Given the description of an element on the screen output the (x, y) to click on. 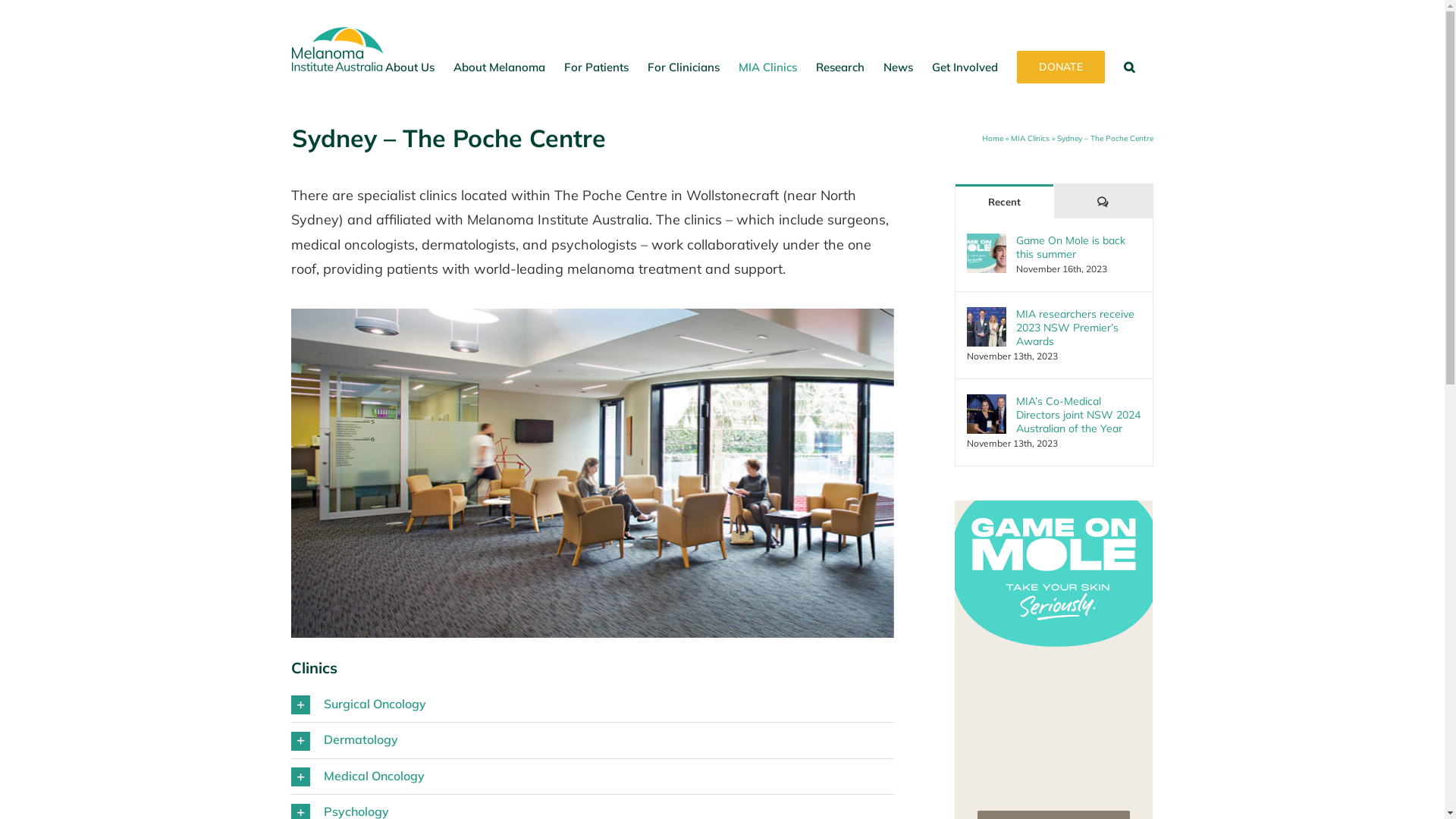
MIA Clinics Element type: text (1029, 138)
For Patients Element type: text (596, 66)
Home Element type: text (991, 138)
For Clinicians Element type: text (683, 66)
Comments Element type: text (1102, 201)
Get Involved Element type: text (964, 66)
Clinics 2 Element type: hover (592, 472)
About Us Element type: text (409, 66)
News Element type: text (897, 66)
Search Element type: hover (1128, 66)
Surgical Oncology Element type: text (592, 704)
About Melanoma Element type: text (499, 66)
Medical Oncology Element type: text (592, 776)
Research Element type: text (839, 66)
MIA Clinics Element type: text (767, 66)
DONATE Element type: text (1060, 66)
Dermatology Element type: text (592, 740)
Recent Element type: text (1004, 201)
Game On Mole is back this summer Element type: text (1078, 246)
